Given the description of an element on the screen output the (x, y) to click on. 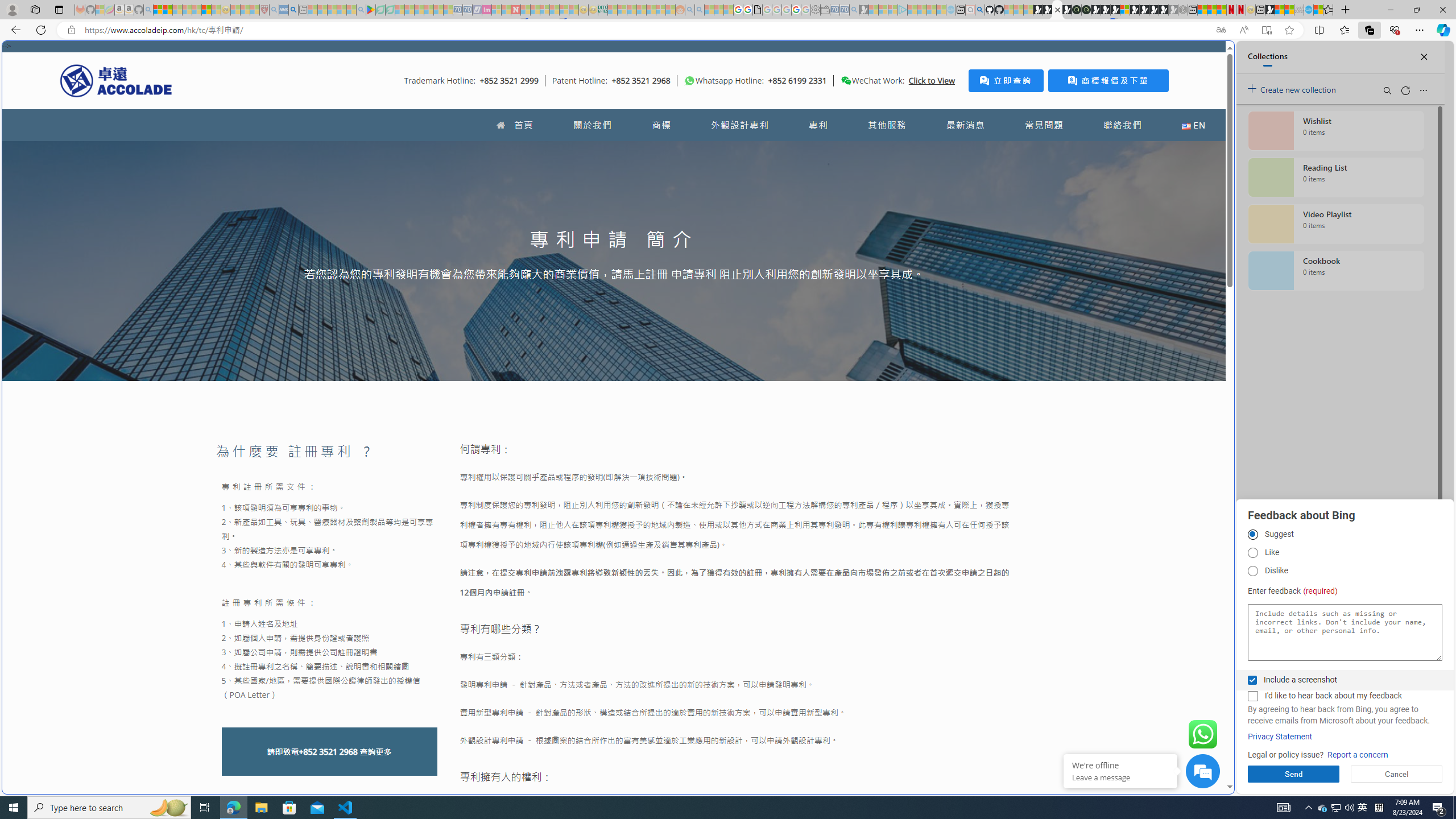
Bluey: Let's Play! - Apps on Google Play (370, 9)
Future Focus Report 2024 (1085, 9)
Local - MSN - Sleeping (254, 9)
google_privacy_policy_zh-CN.pdf (757, 9)
Frequently visited (965, 151)
